Given the description of an element on the screen output the (x, y) to click on. 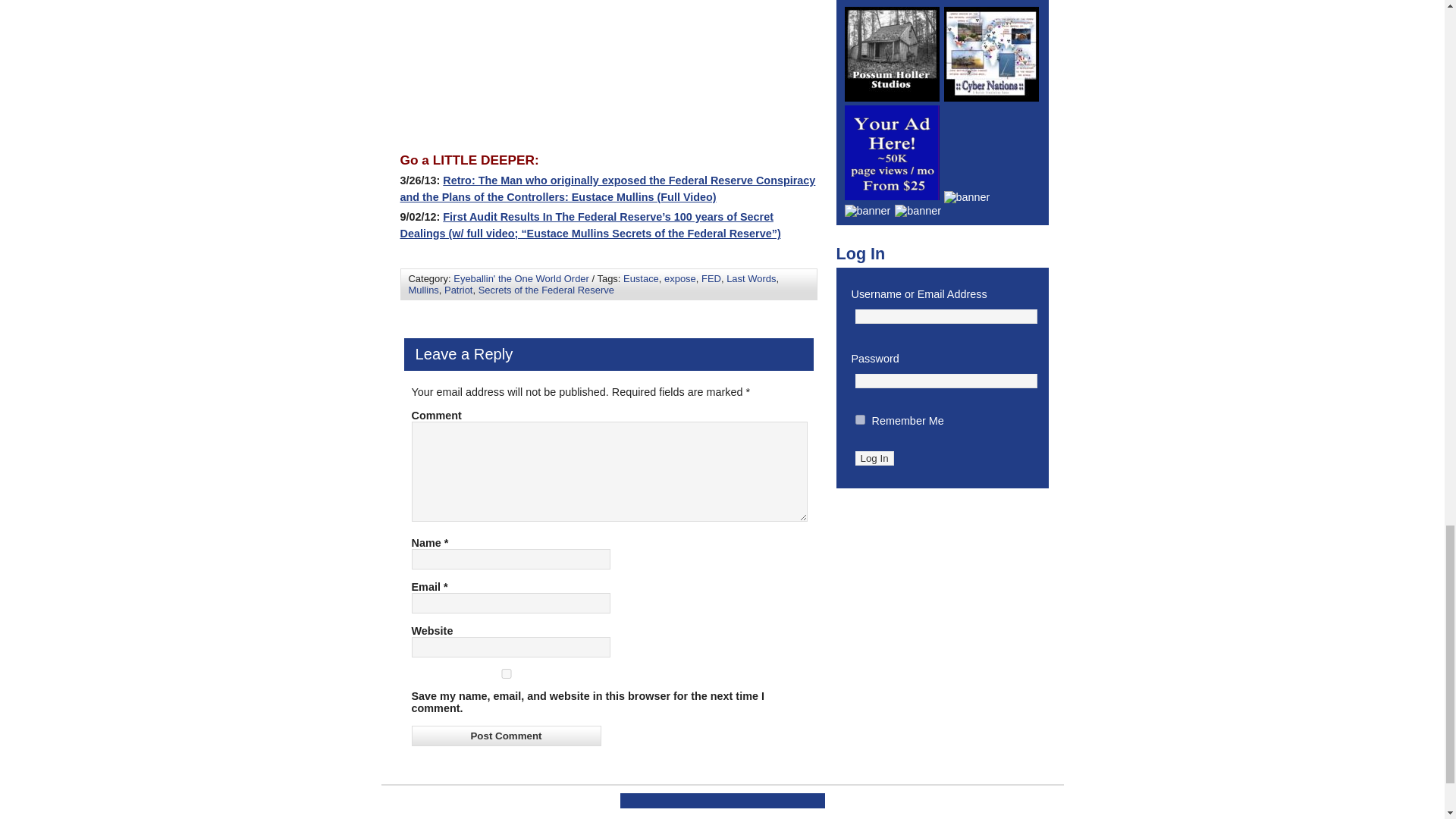
Mullins (422, 289)
Last Words (751, 278)
Eyeballin' the One World Order (520, 278)
Eustace (641, 278)
Post Comment (504, 735)
FED (710, 278)
Log In (874, 458)
forever (860, 419)
Secrets of the Federal Reserve (546, 289)
yes (504, 673)
Patriot (457, 289)
Post Comment (504, 735)
expose (679, 278)
